Given the description of an element on the screen output the (x, y) to click on. 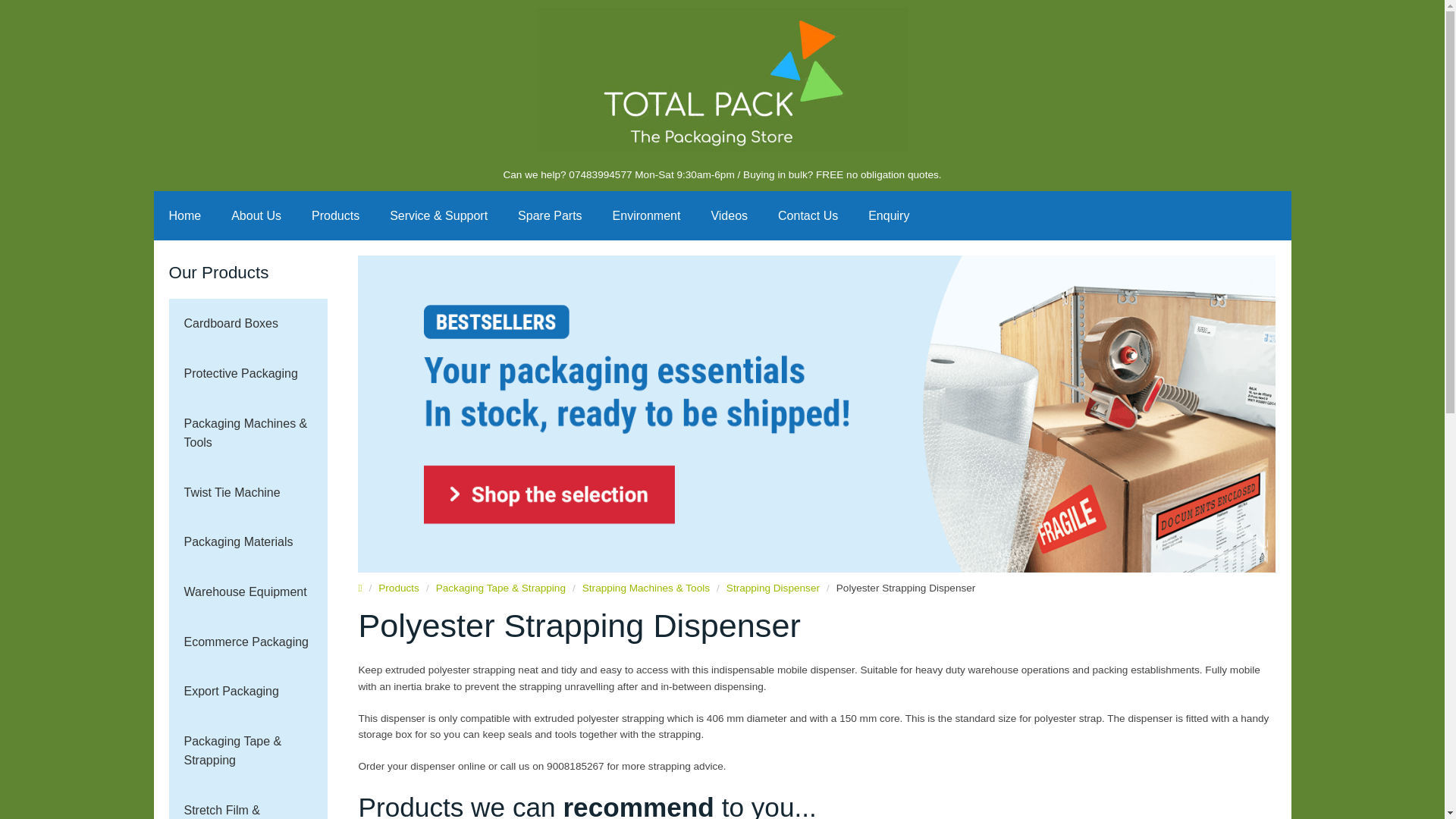
Enquiry (888, 215)
Twist Tie Machine (247, 492)
Enquiry (888, 215)
Strapping Dispenser (772, 587)
Protective Packaging (247, 373)
Packaging Machines (247, 432)
Products (335, 215)
Contact Us (807, 215)
Products (335, 215)
Videos (728, 215)
About Us (256, 215)
Twist Tie Machine (247, 492)
Cardboard Boxes (247, 323)
Home (183, 215)
Spare Parts (549, 215)
